Given the description of an element on the screen output the (x, y) to click on. 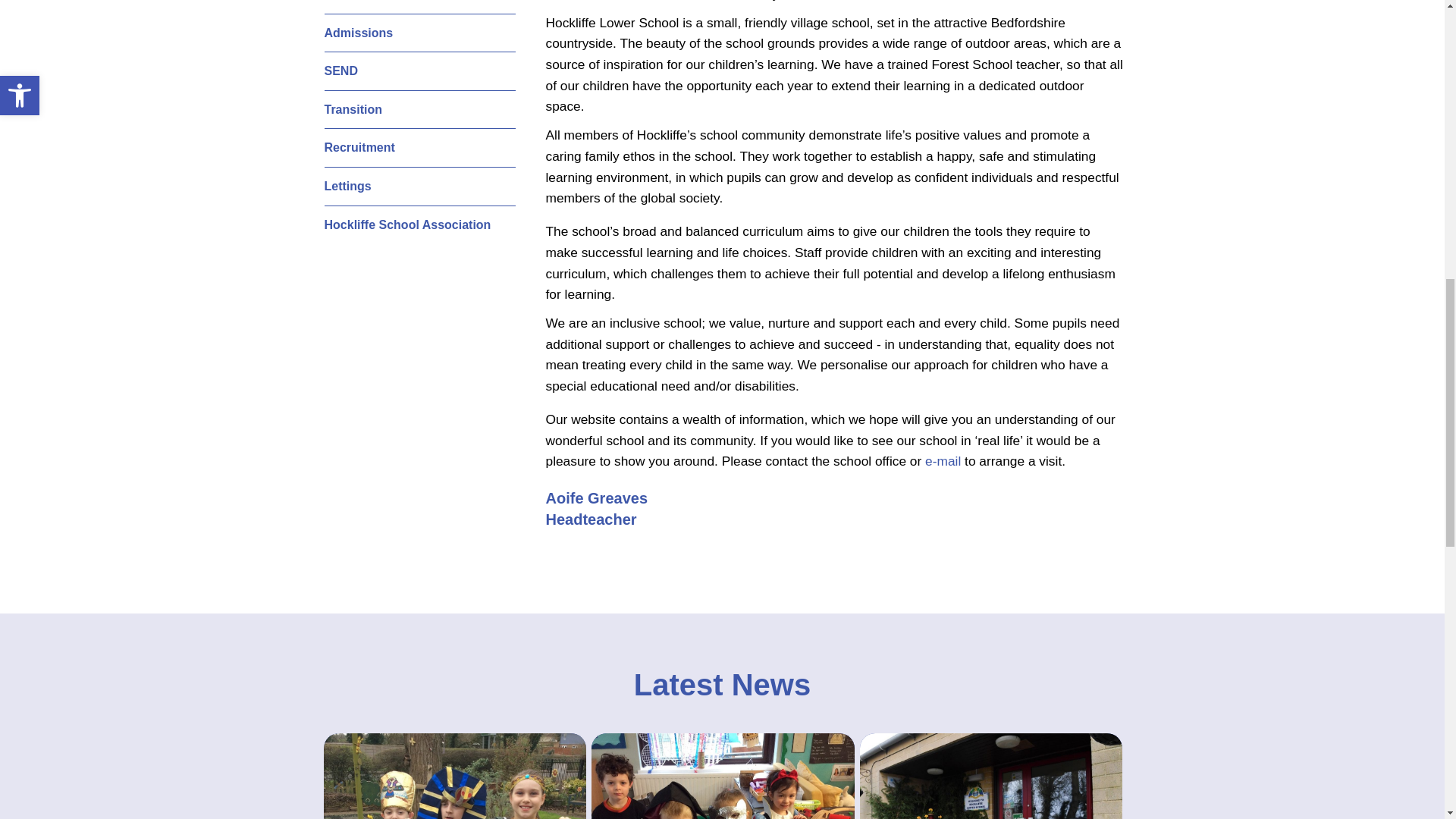
World Book Day (722, 776)
Ancient Egyptian Day (454, 776)
